Given the description of an element on the screen output the (x, y) to click on. 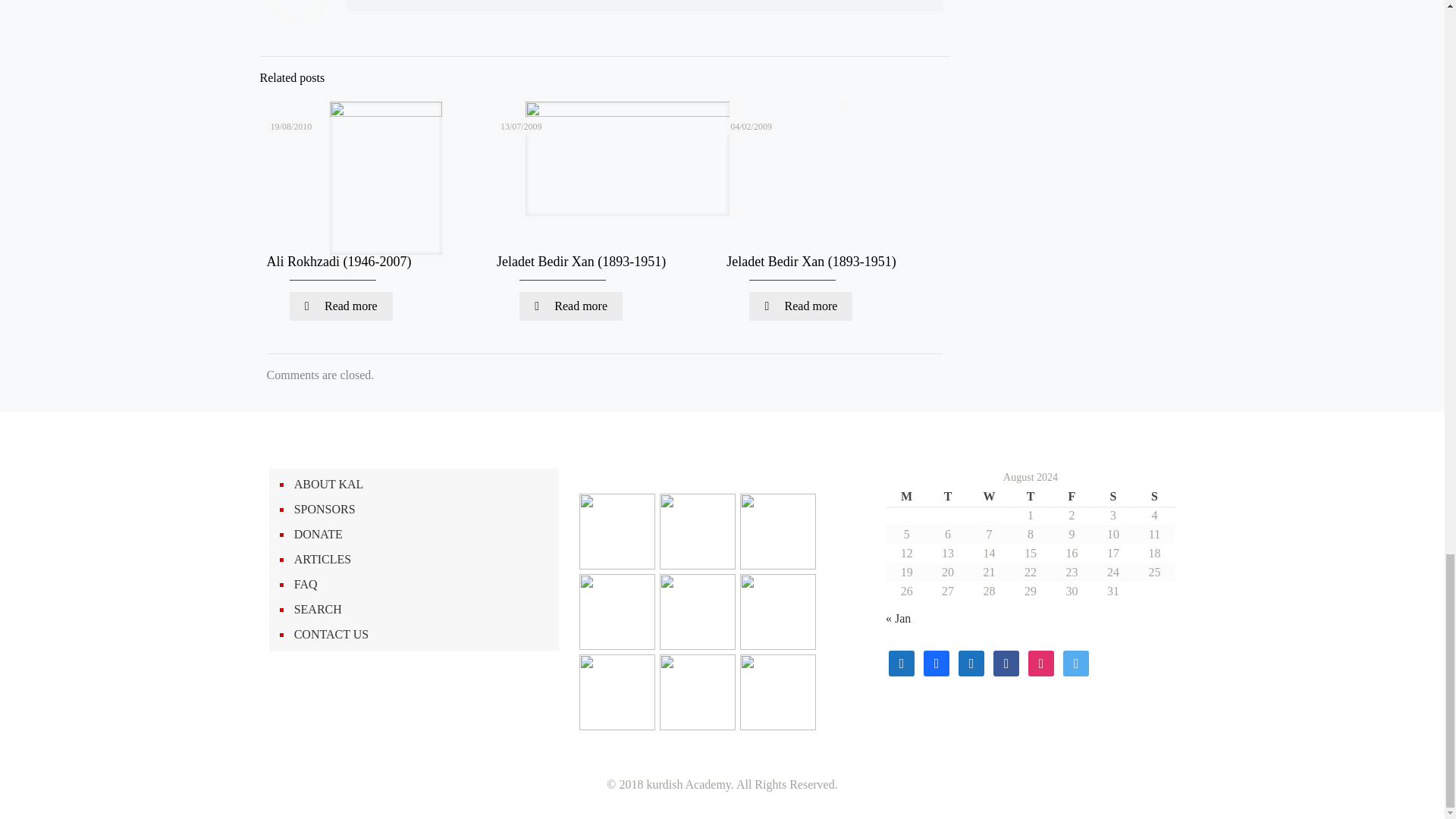
Monday (905, 496)
Wednesday (988, 496)
Tuesday (947, 496)
